Given the description of an element on the screen output the (x, y) to click on. 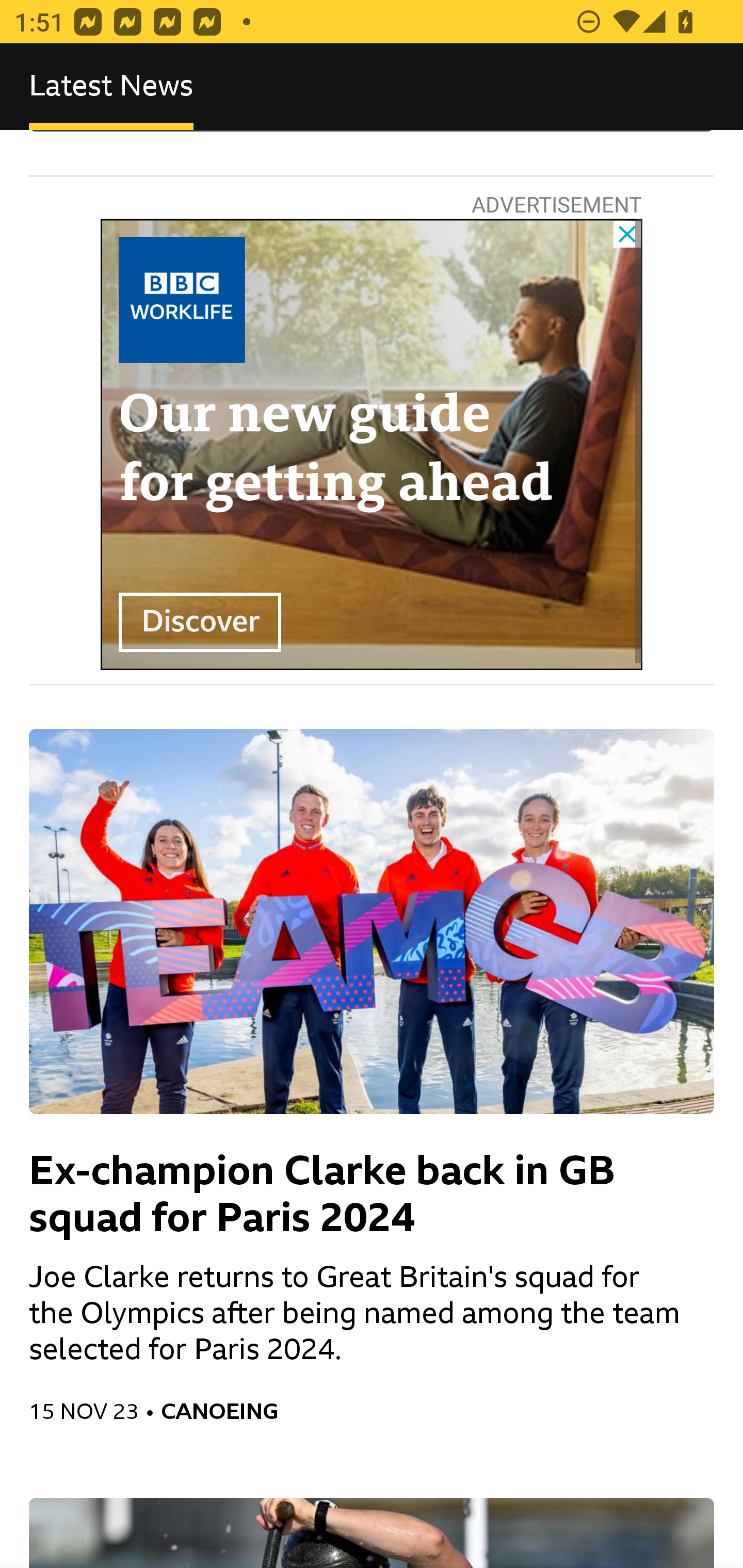
Latest News, selected Latest News (111, 86)
CANOEING In the section Canoeing (437, 1411)
